Given the description of an element on the screen output the (x, y) to click on. 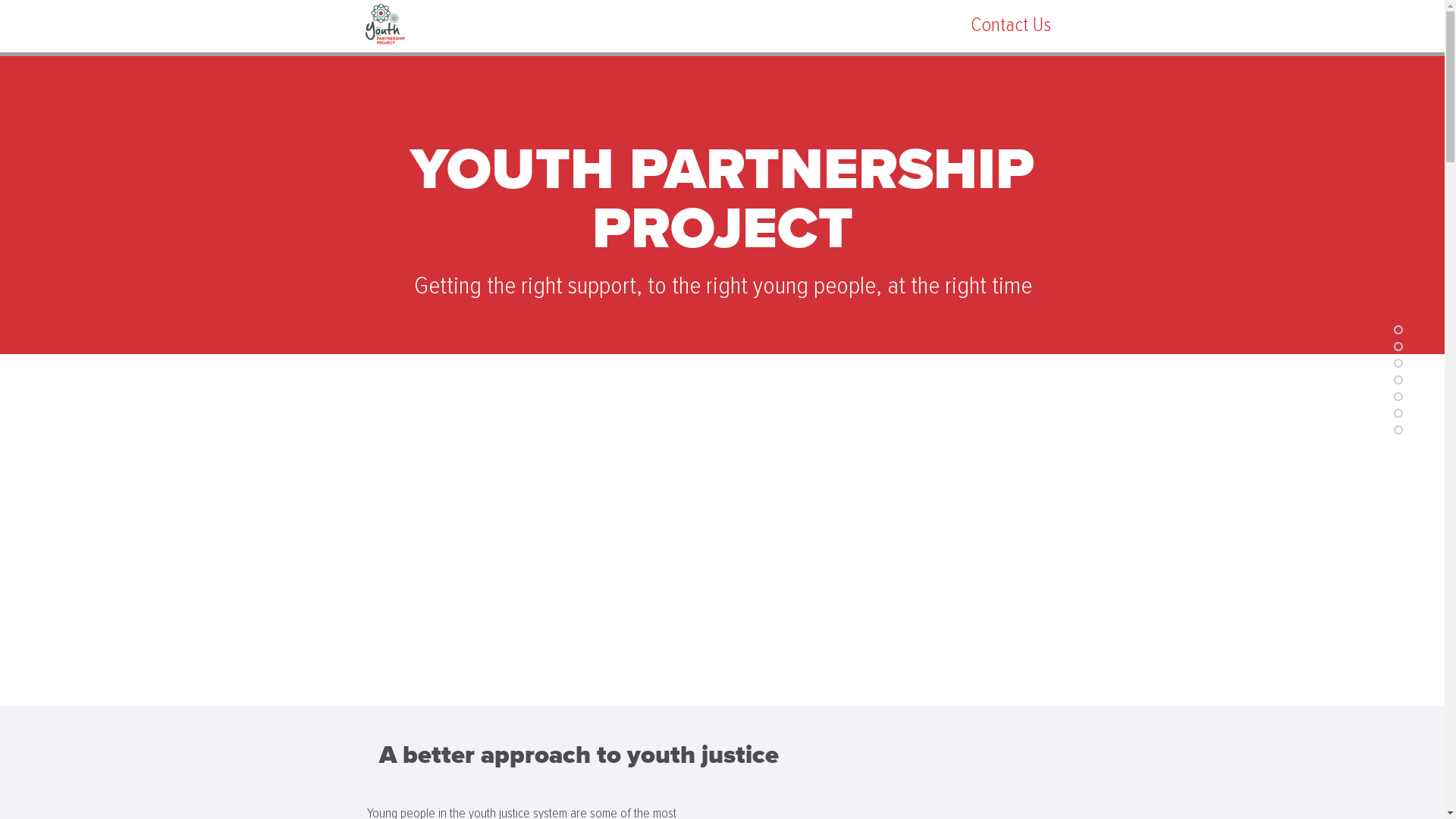
Contact Us Element type: text (1009, 24)
